Given the description of an element on the screen output the (x, y) to click on. 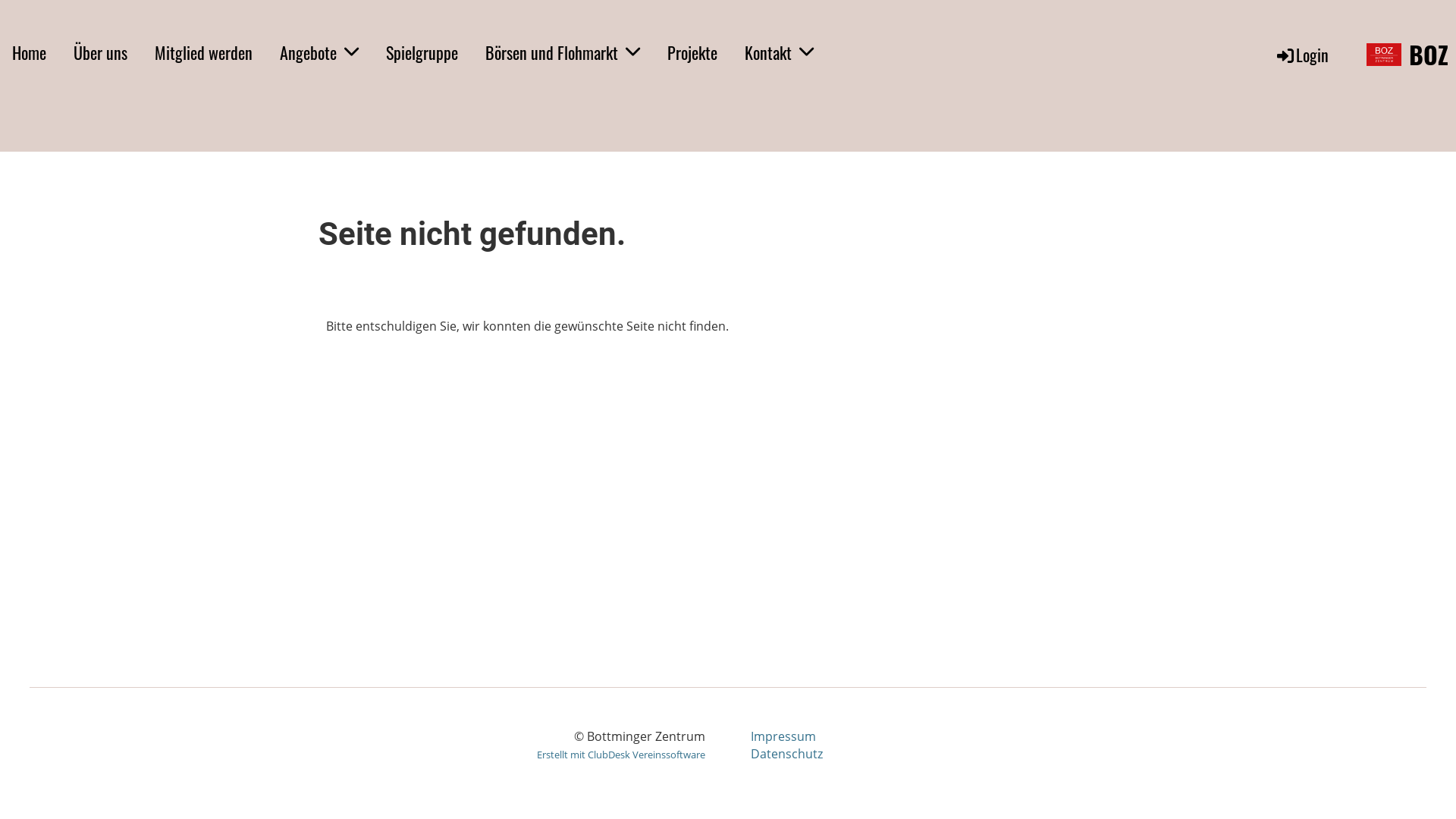
Spielgruppe Element type: text (421, 52)
BOZ Element type: text (1428, 54)
Datenschutz Element type: text (786, 753)
Impressum Element type: text (782, 736)
Login Element type: text (1301, 54)
Projekte Element type: text (692, 52)
Home Element type: text (29, 52)
Angebote Element type: text (318, 52)
Erstellt mit ClubDesk Vereinssoftware Element type: text (620, 754)
Kontakt Element type: text (778, 52)
Mitglied werden Element type: text (203, 52)
